Given the description of an element on the screen output the (x, y) to click on. 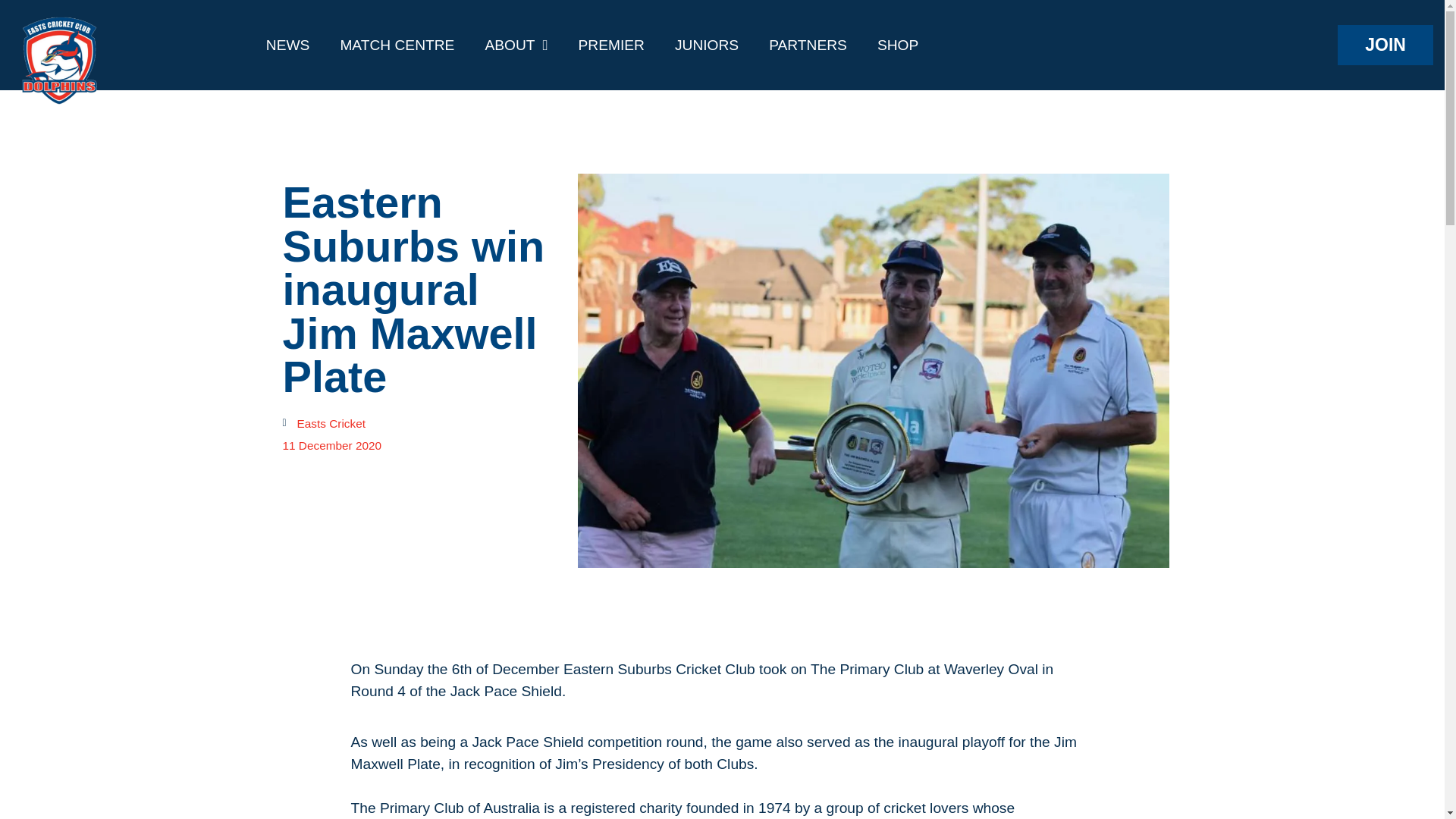
NEWS (287, 44)
PARTNERS (807, 44)
SHOP (897, 44)
JOIN (1385, 44)
JUNIORS (706, 44)
MATCH CENTRE (396, 44)
PREMIER (611, 44)
ABOUT (515, 44)
